Given the description of an element on the screen output the (x, y) to click on. 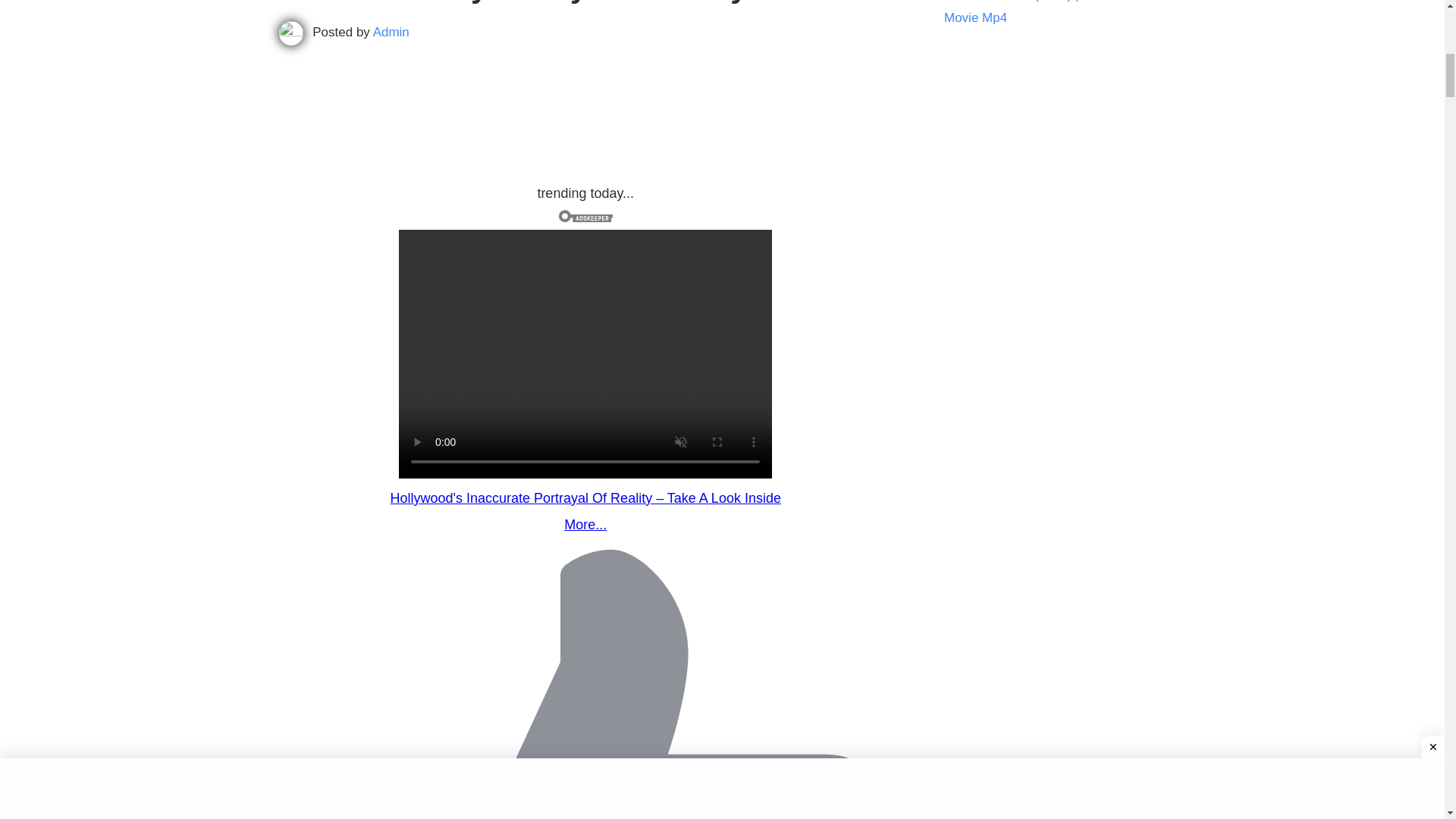
View all posts by Admin (390, 32)
Admin (390, 32)
